Given the description of an element on the screen output the (x, y) to click on. 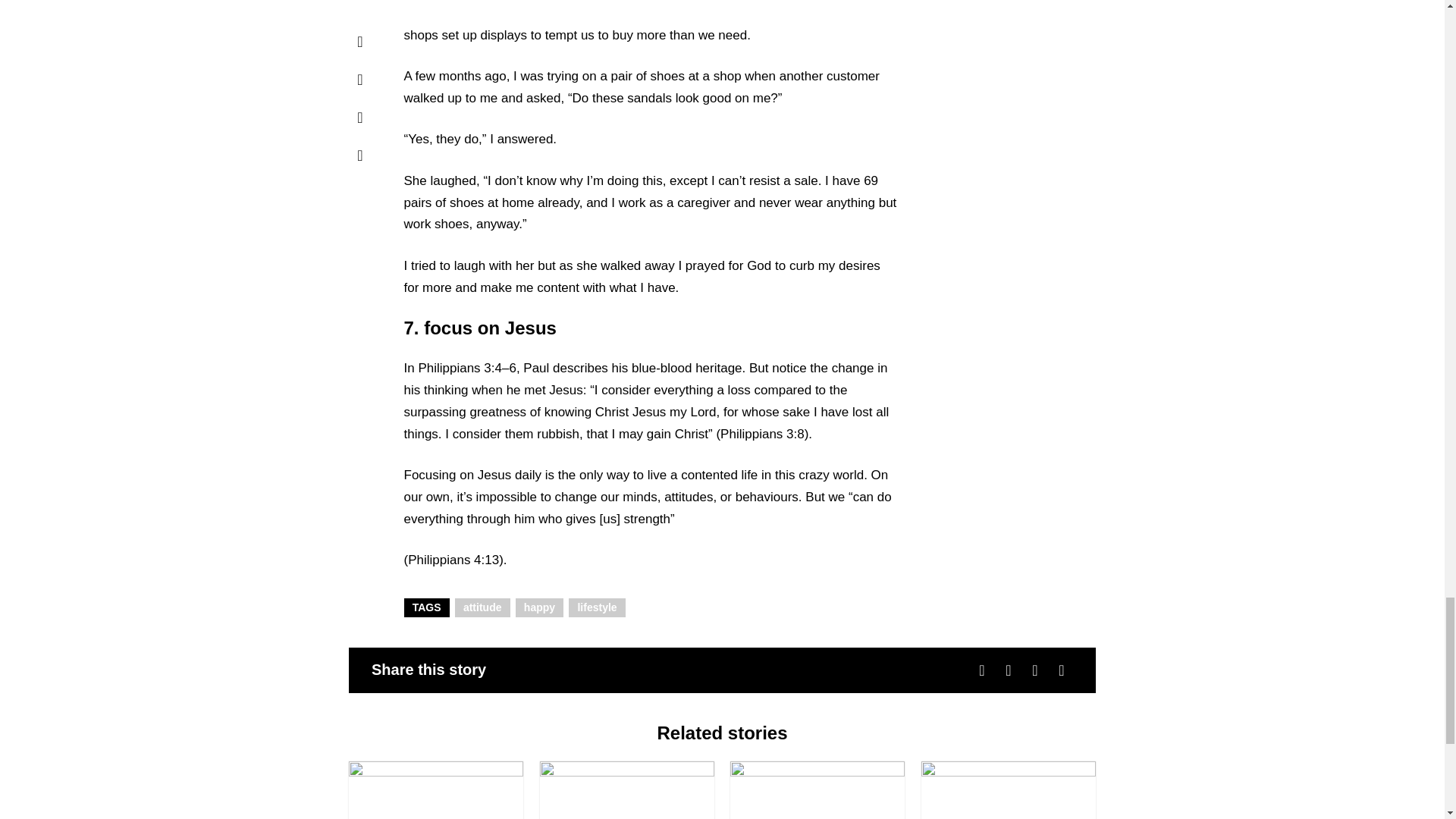
Share via email (1034, 669)
attitude (482, 607)
Share on Twitter (1008, 669)
Copy link (1061, 669)
happy (539, 607)
Share on Facebook (981, 669)
lifestyle (597, 607)
